Given the description of an element on the screen output the (x, y) to click on. 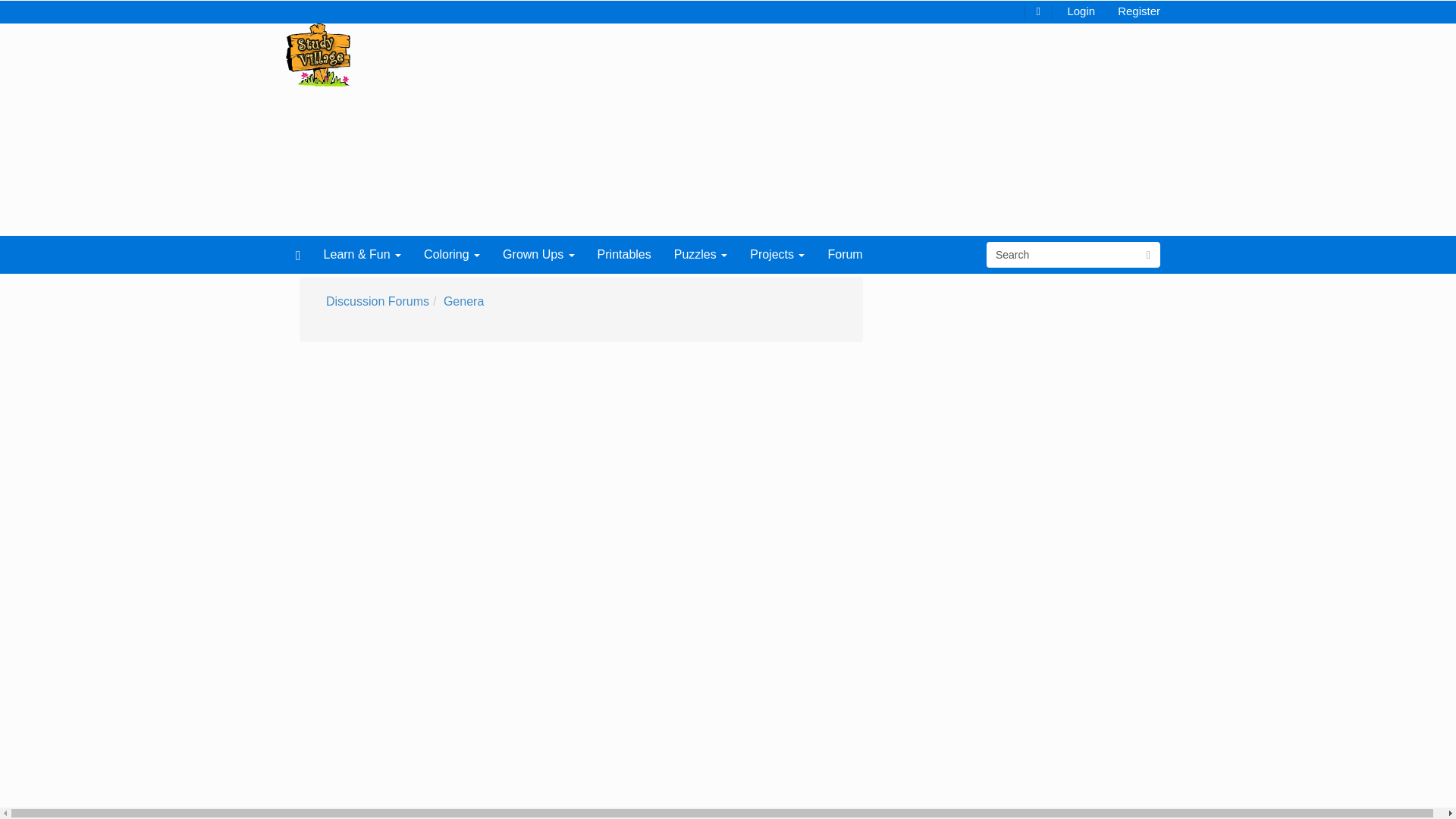
Login (1080, 9)
Register (1139, 9)
Advertisement (698, 129)
Search (1062, 254)
